Given the description of an element on the screen output the (x, y) to click on. 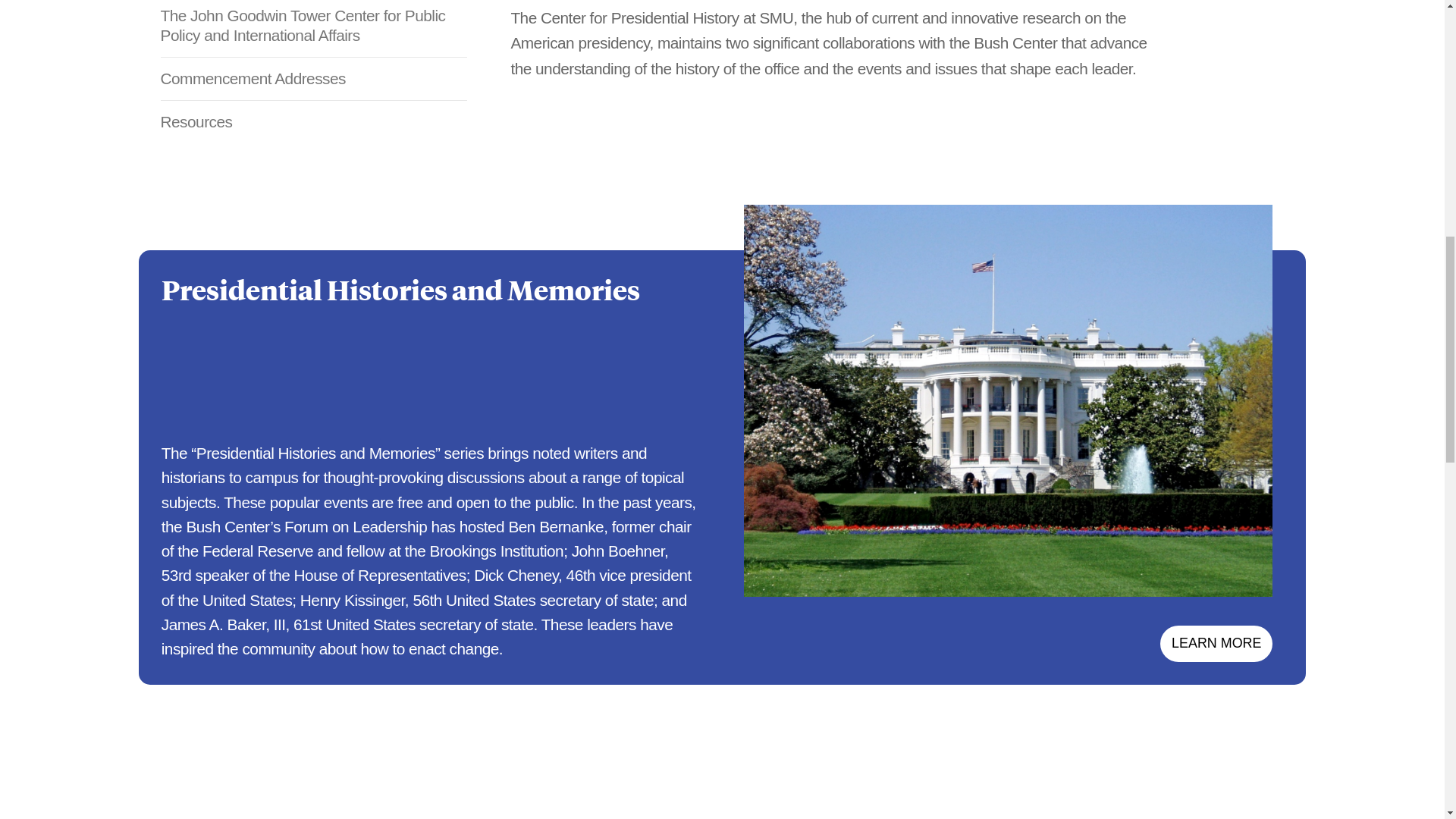
Commencement Addresses (313, 78)
Resources (313, 121)
LEARN MORE (1216, 643)
